Given the description of an element on the screen output the (x, y) to click on. 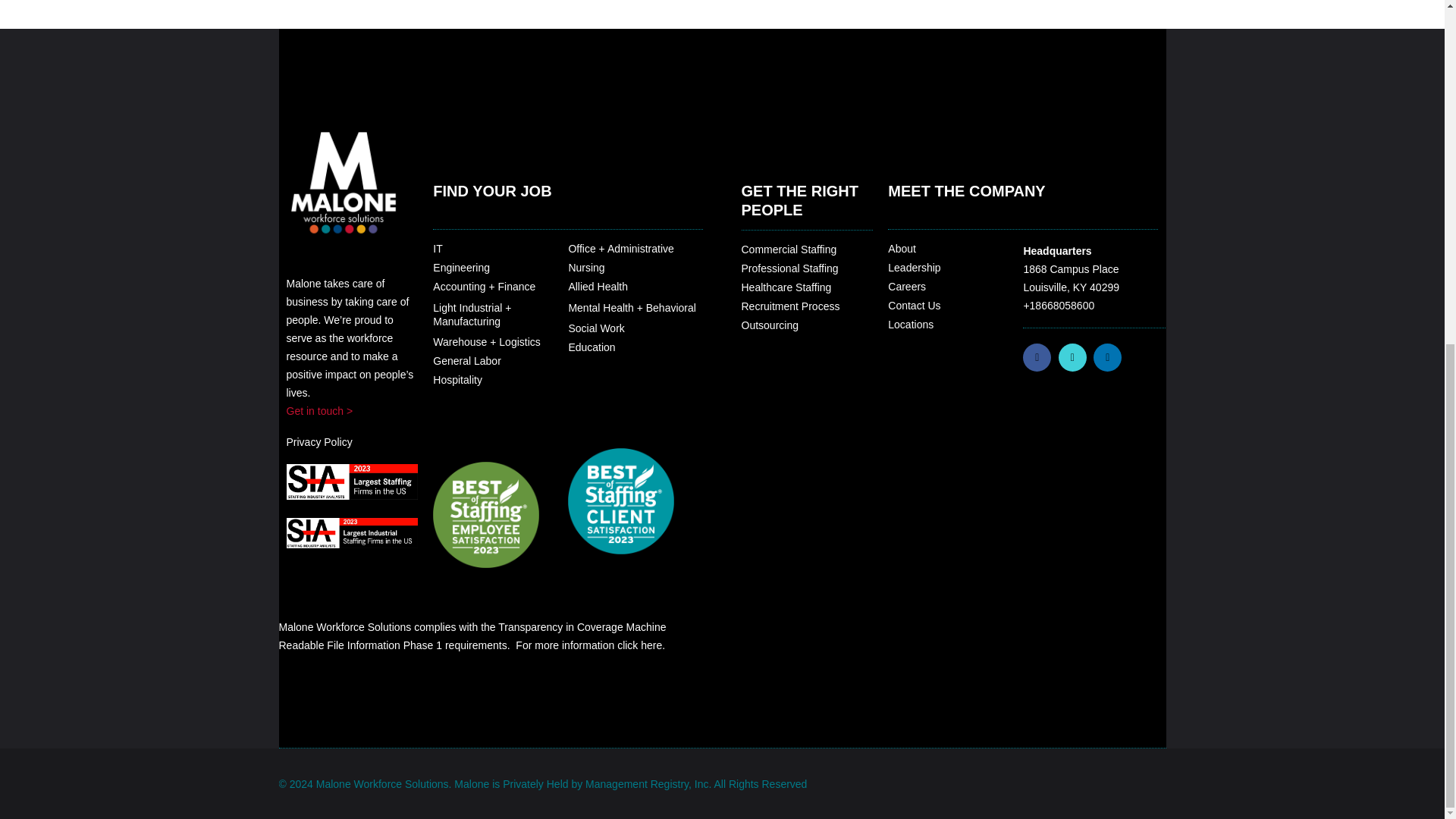
Social Work (595, 328)
General Labor (466, 360)
Engineering (460, 267)
Allied Health (597, 286)
Privacy Policy (319, 441)
Nursing (585, 267)
Hospitality (456, 379)
